Given the description of an element on the screen output the (x, y) to click on. 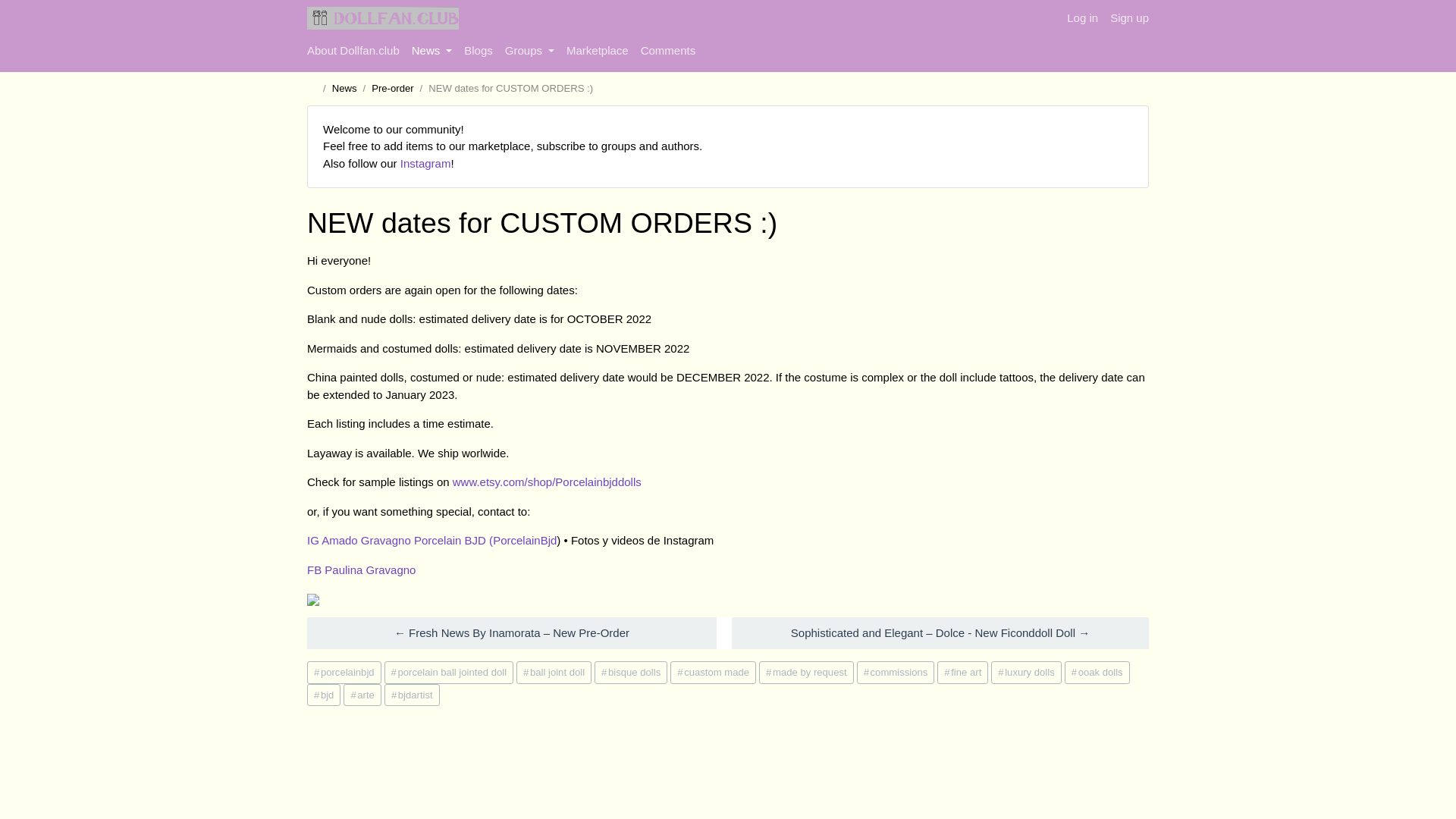
Sign up (1122, 18)
Comments (667, 51)
Marketplace (597, 51)
About Dollfan.club (353, 51)
Blogs (478, 51)
About Dollfan.club (353, 51)
Instagram (425, 163)
Groups (529, 51)
Log in (1082, 18)
News (343, 88)
